Given the description of an element on the screen output the (x, y) to click on. 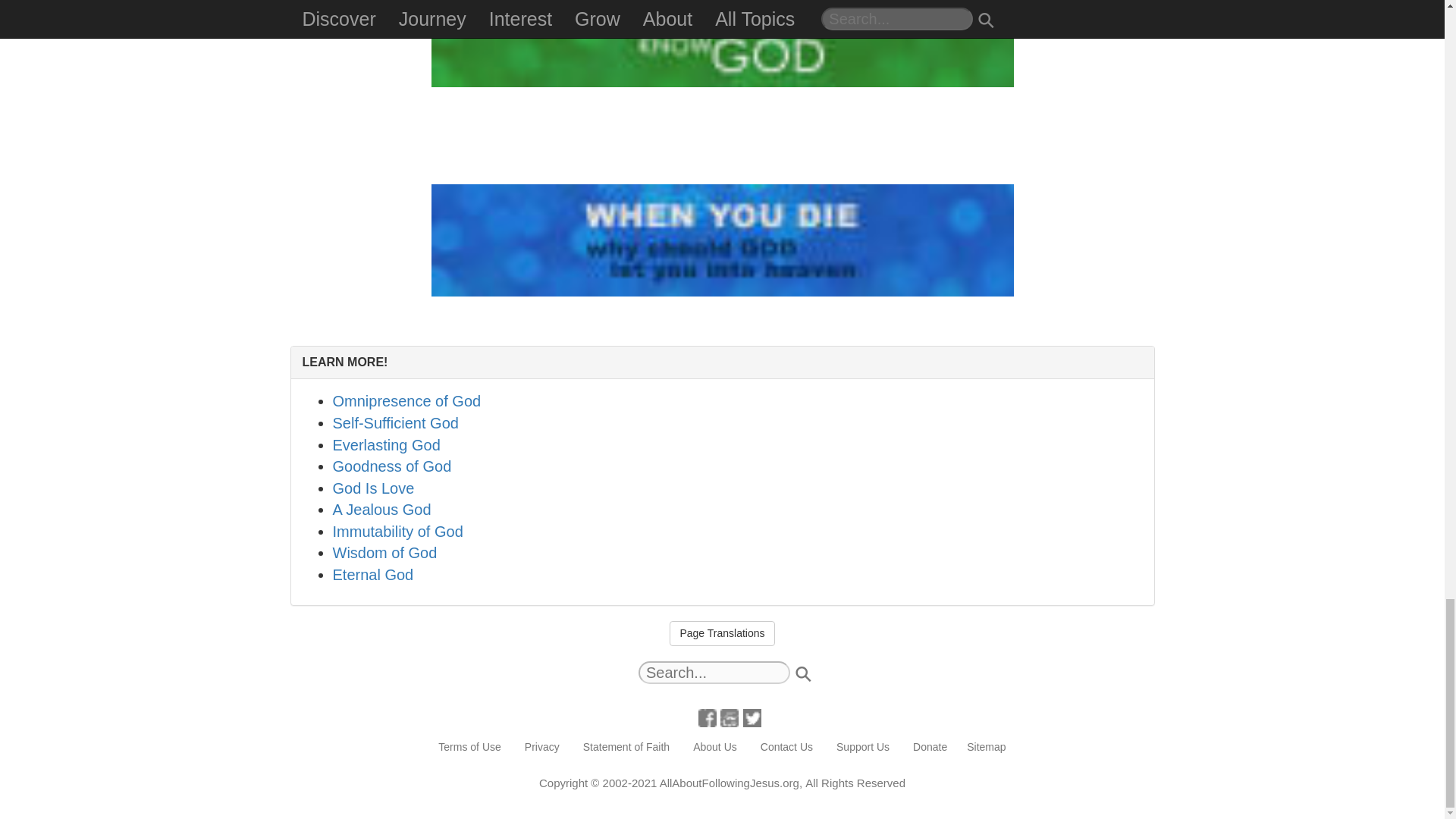
Statement of Faith (626, 747)
Page Translations (721, 633)
Contact Us (786, 747)
A Jealous God (380, 509)
Omnipresence of God (405, 401)
Self-Sufficient God (394, 422)
Eternal God (372, 574)
God Is Love (372, 487)
Wisdom of God (383, 552)
About Us (714, 747)
